Given the description of an element on the screen output the (x, y) to click on. 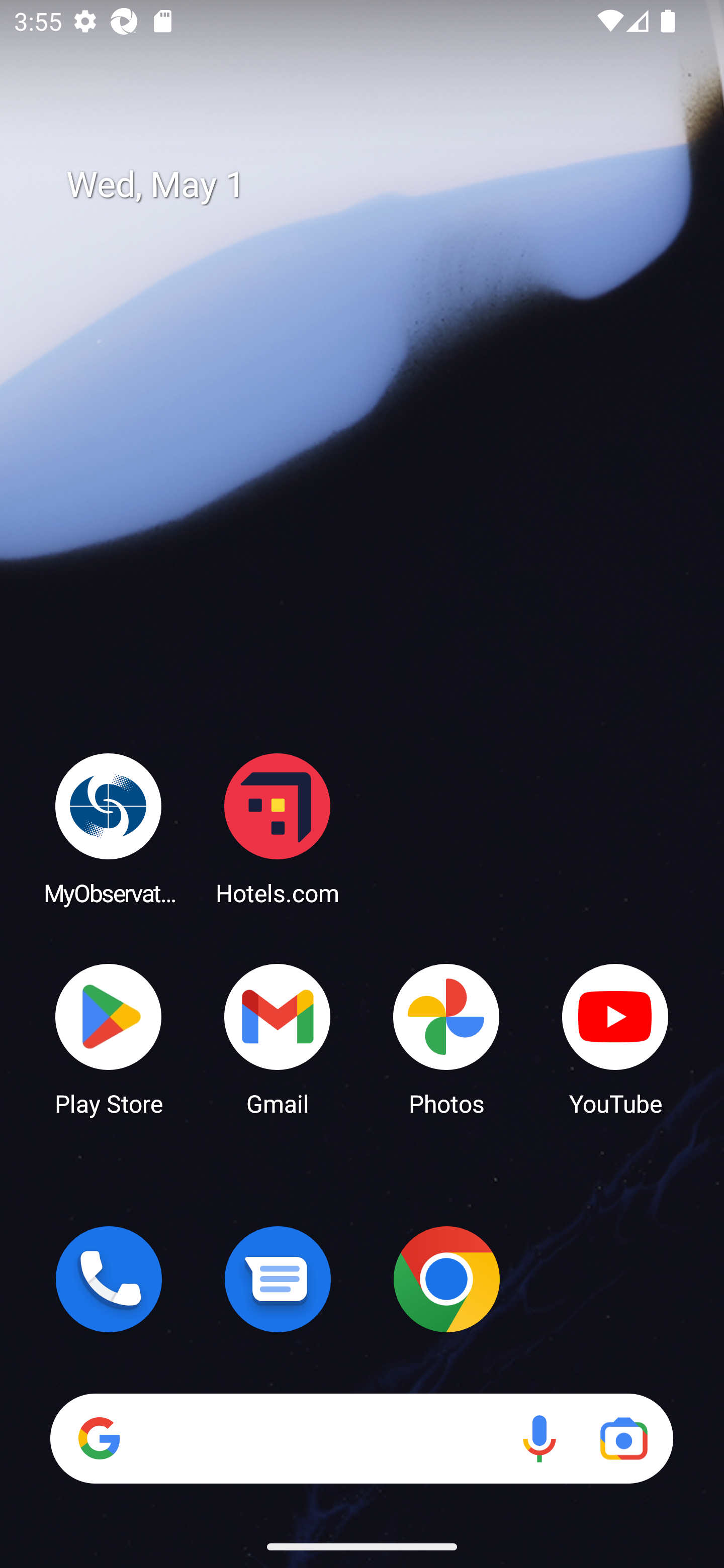
Wed, May 1 (375, 184)
MyObservatory (108, 828)
Hotels.com (277, 828)
Play Store (108, 1038)
Gmail (277, 1038)
Photos (445, 1038)
YouTube (615, 1038)
Phone (108, 1279)
Messages (277, 1279)
Chrome (446, 1279)
Search Voice search Google Lens (361, 1438)
Voice search (539, 1438)
Google Lens (623, 1438)
